Given the description of an element on the screen output the (x, y) to click on. 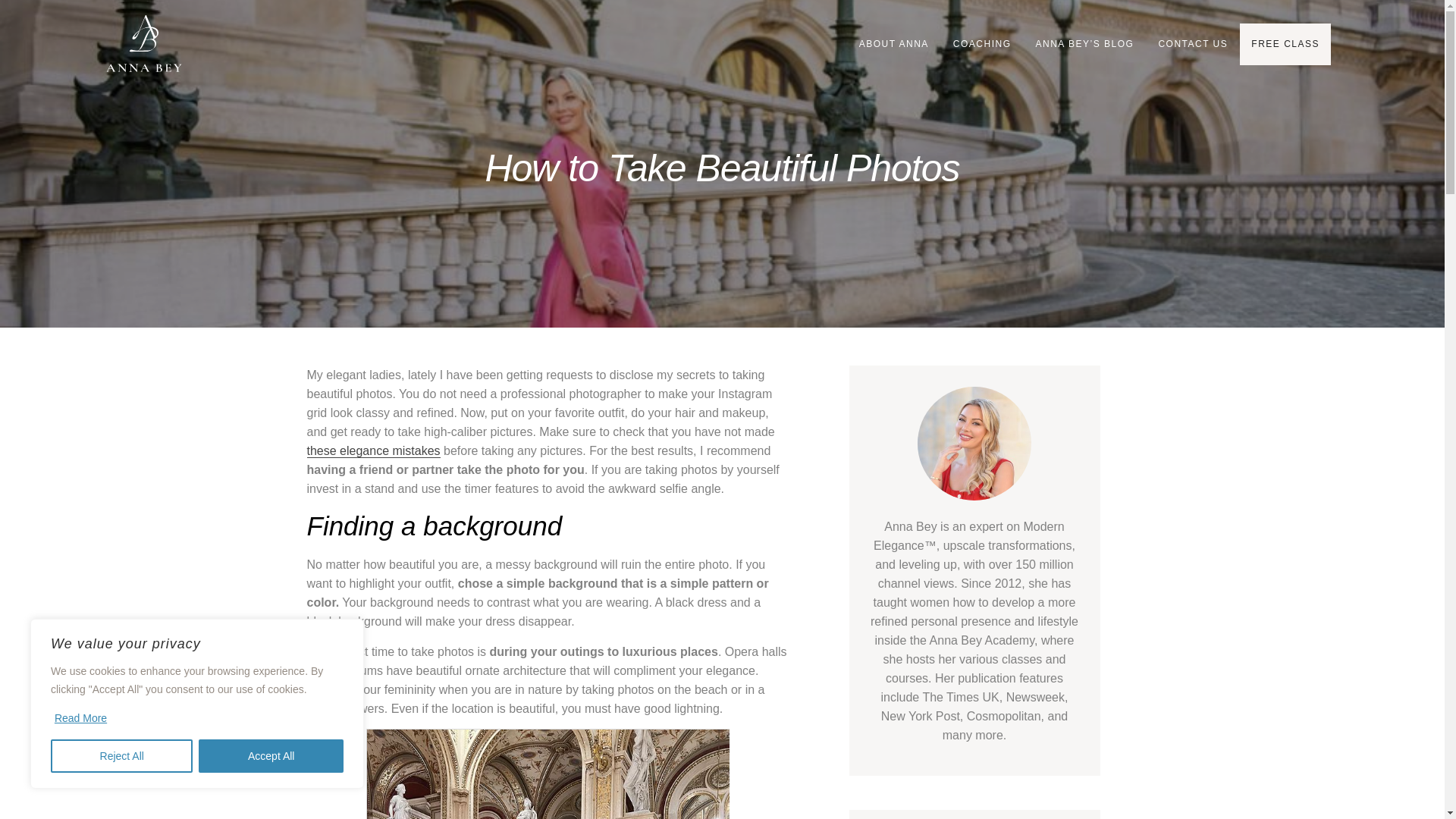
CONTACT US (1192, 44)
ABOUT ANNA (893, 44)
COACHING (982, 44)
these elegance mistakes (372, 450)
Read More (80, 717)
Reject All (121, 756)
FREE CLASS (1285, 44)
Accept All (270, 756)
